Given the description of an element on the screen output the (x, y) to click on. 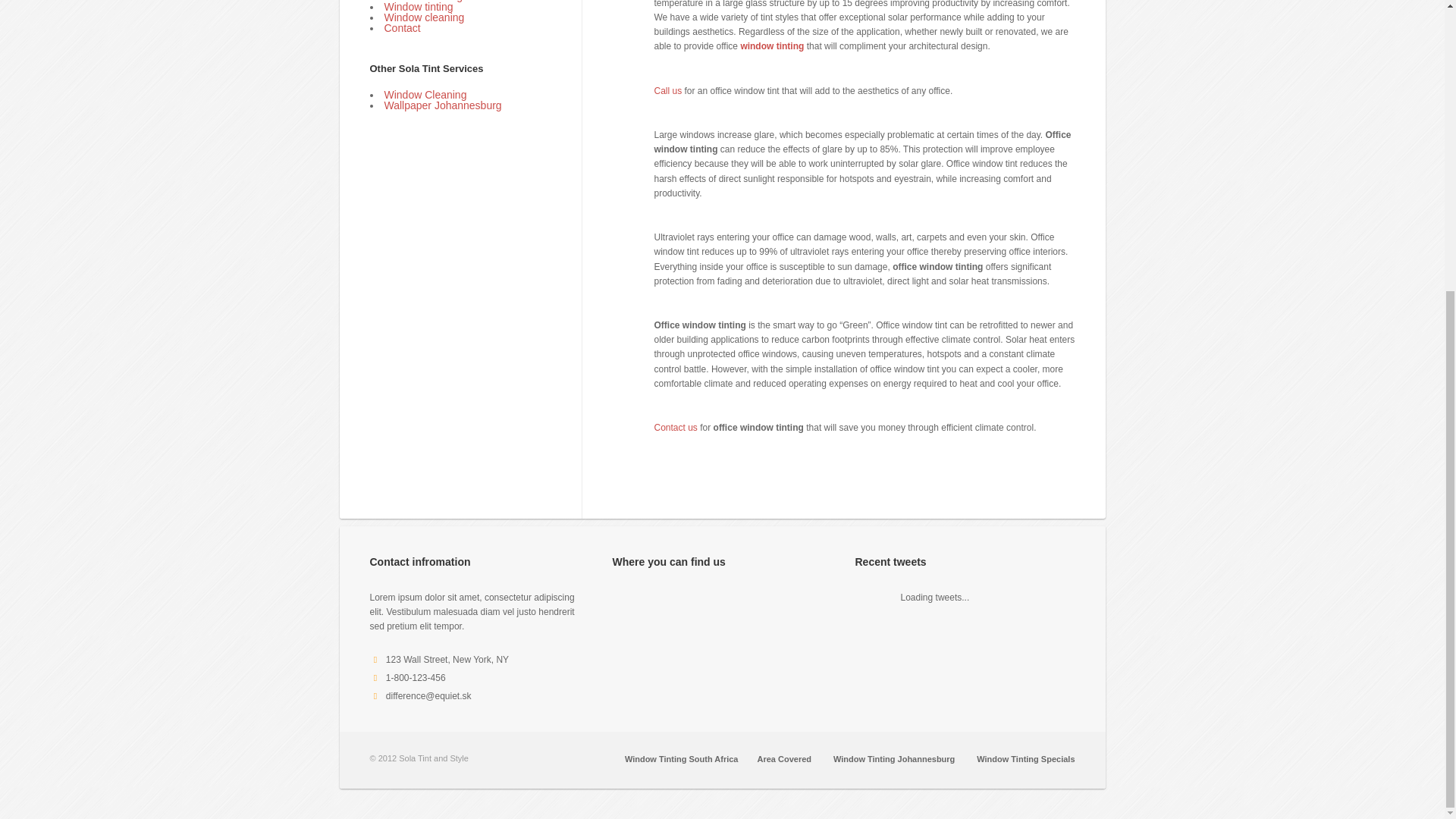
Contact us (675, 427)
window tinting (771, 45)
Window Cleaning (424, 94)
Window Tinting South Africa (681, 758)
Area Covered (783, 758)
Sandblast tinting (423, 1)
Wallpaper Johannesburg (442, 105)
Window cleaning (424, 17)
Window Tinting Specials (1025, 758)
Call us (667, 90)
Window tinting (418, 6)
Window Tinting Johannesburg (893, 758)
Contact (402, 28)
